Given the description of an element on the screen output the (x, y) to click on. 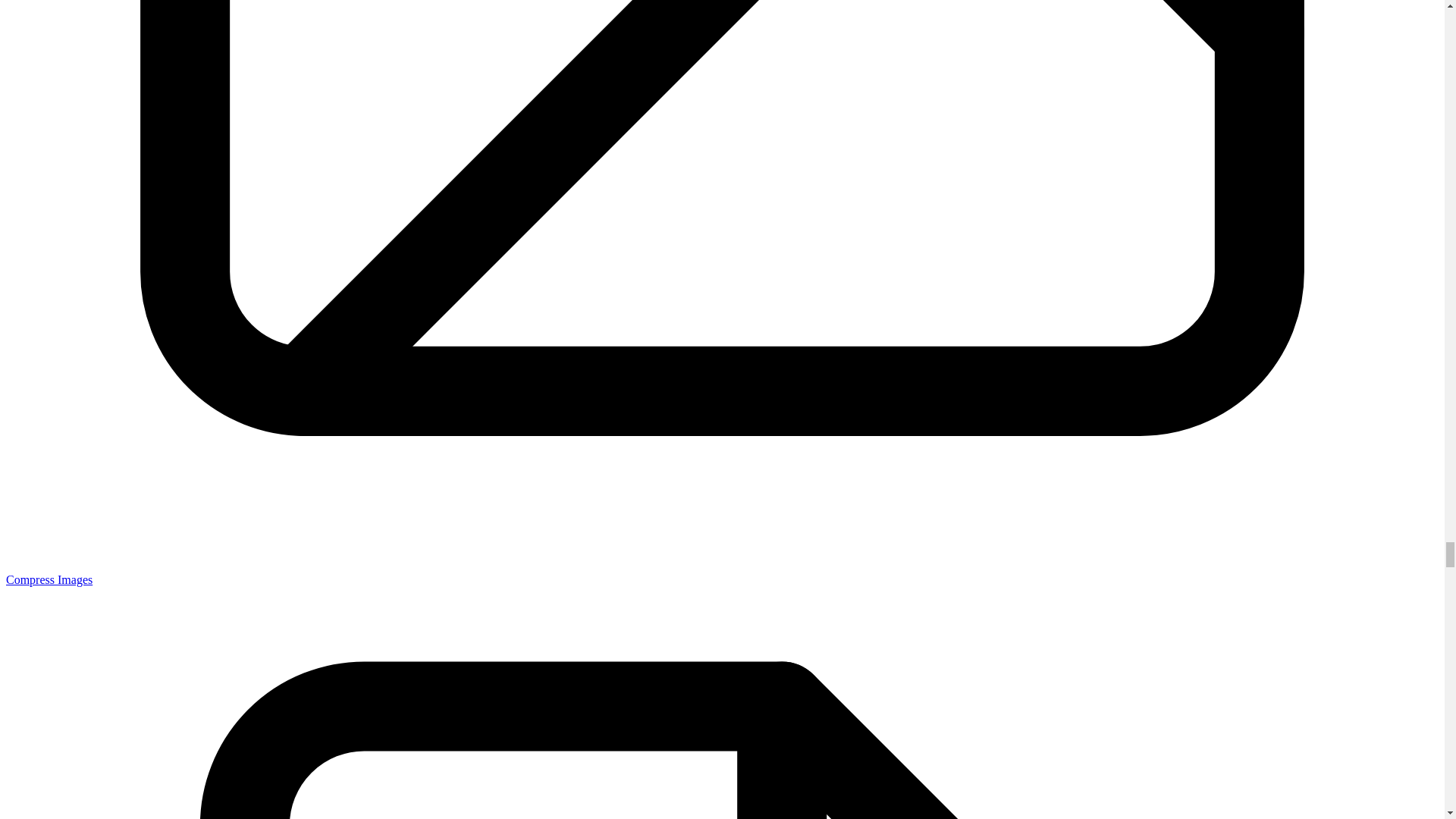
Compress Images (49, 579)
